Given the description of an element on the screen output the (x, y) to click on. 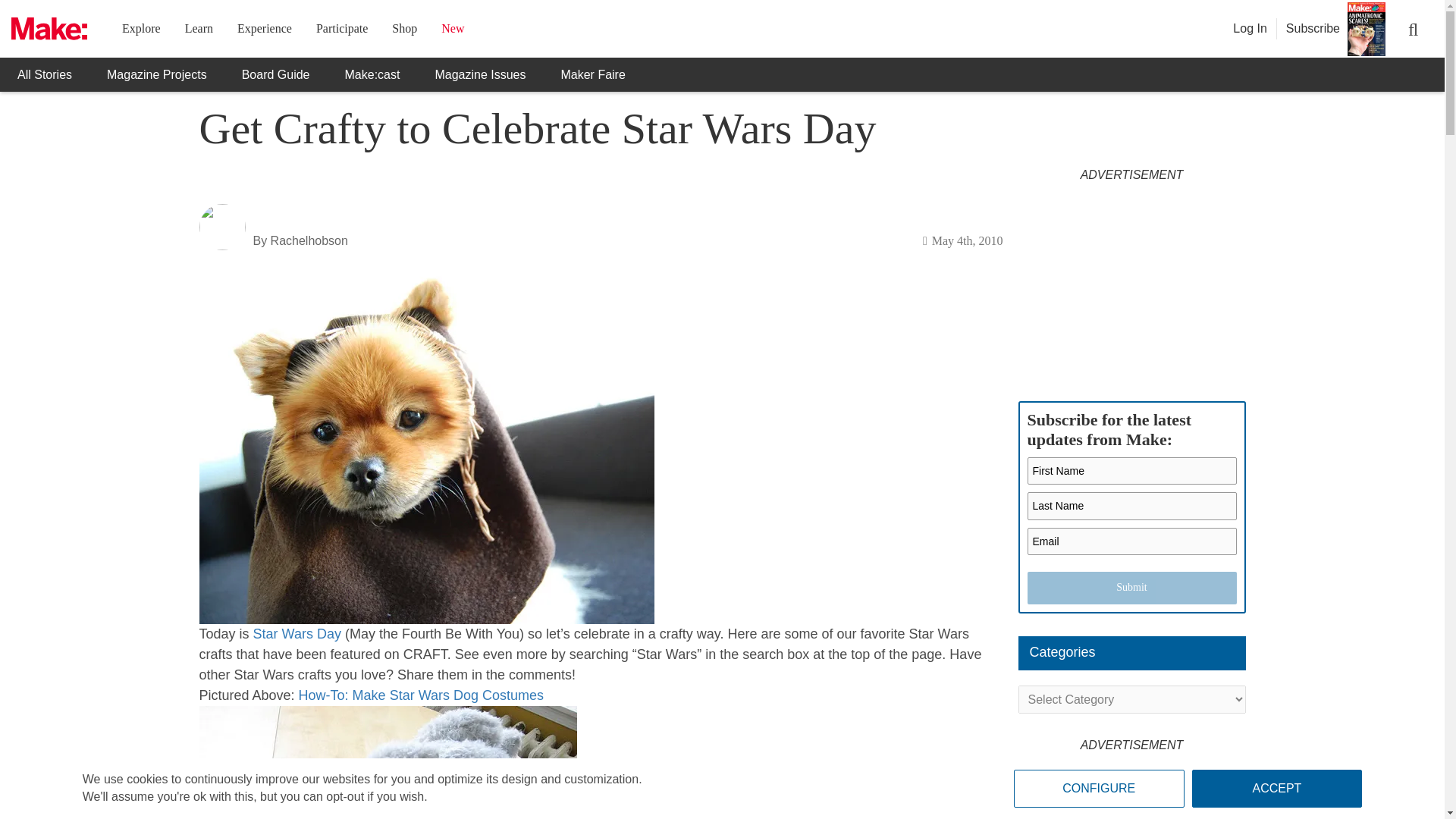
Magazine Issues (479, 74)
Log In (1249, 28)
Make:cast (372, 74)
3rd party ad content (1130, 283)
Magazine Projects (156, 74)
Experience (264, 28)
Explore (141, 28)
Maker Faire (592, 74)
Board Guide (275, 74)
All Stories (44, 74)
Participate (341, 28)
Learn (198, 28)
